Given the description of an element on the screen output the (x, y) to click on. 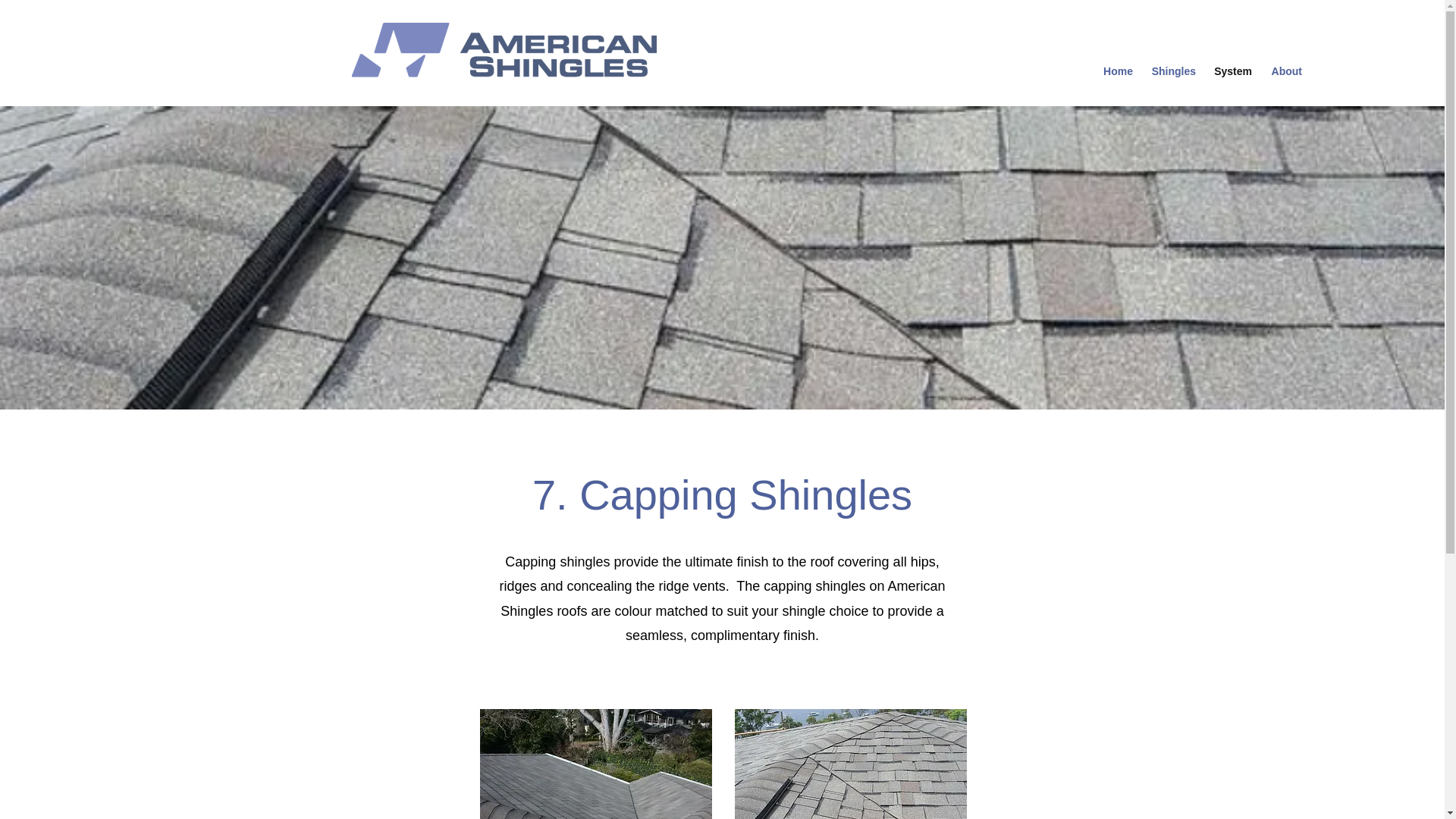
Shingles (1172, 70)
System (1231, 70)
About (1283, 70)
Home (1116, 70)
